Given the description of an element on the screen output the (x, y) to click on. 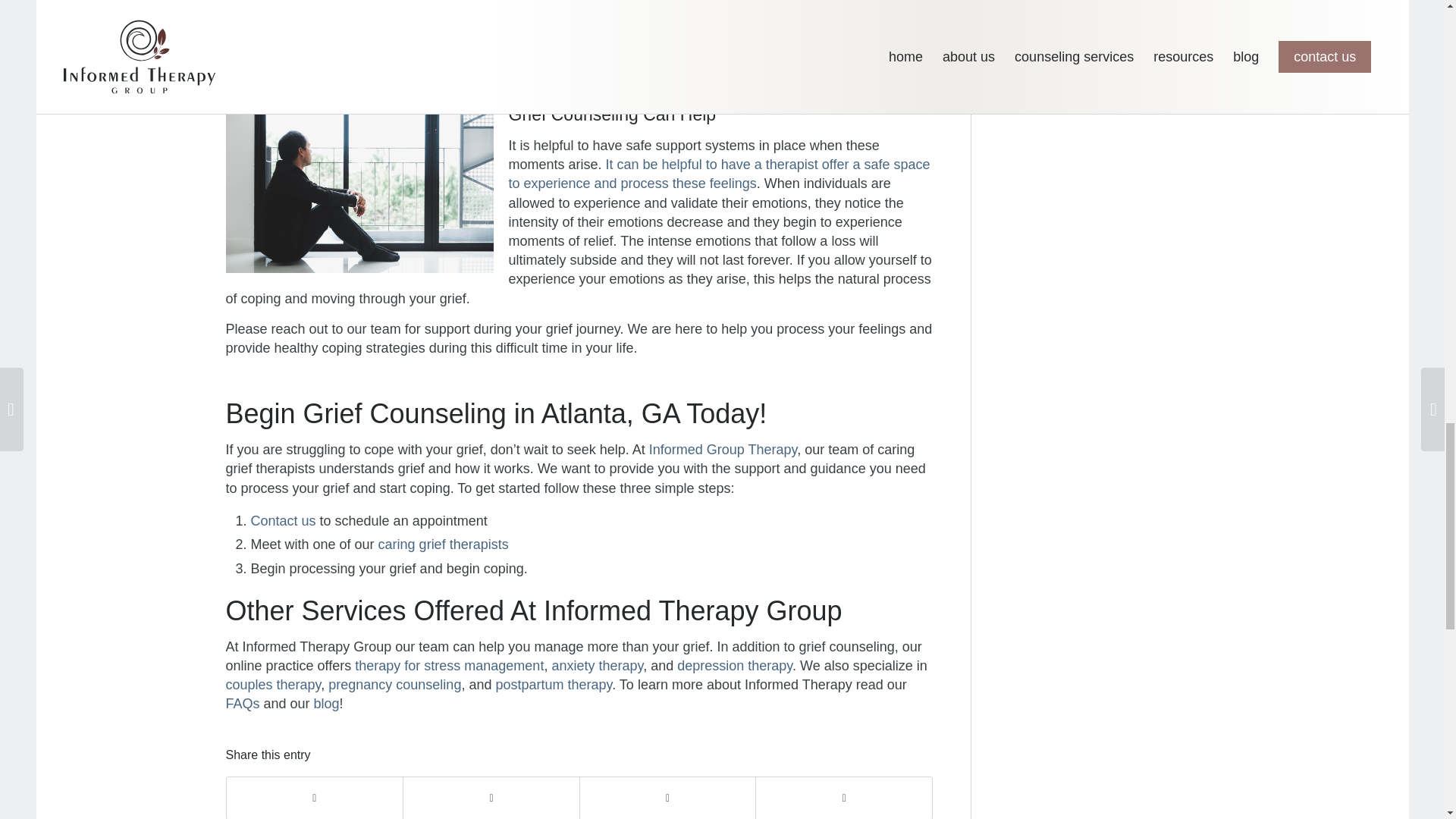
couples therapy (273, 684)
caring grief therapists (443, 544)
Informed Group Therapy (722, 449)
pregnancy counseling (395, 684)
anxiety therapy (597, 665)
depression therapy (734, 665)
therapy for stress management (449, 665)
Contact us (282, 520)
